Given the description of an element on the screen output the (x, y) to click on. 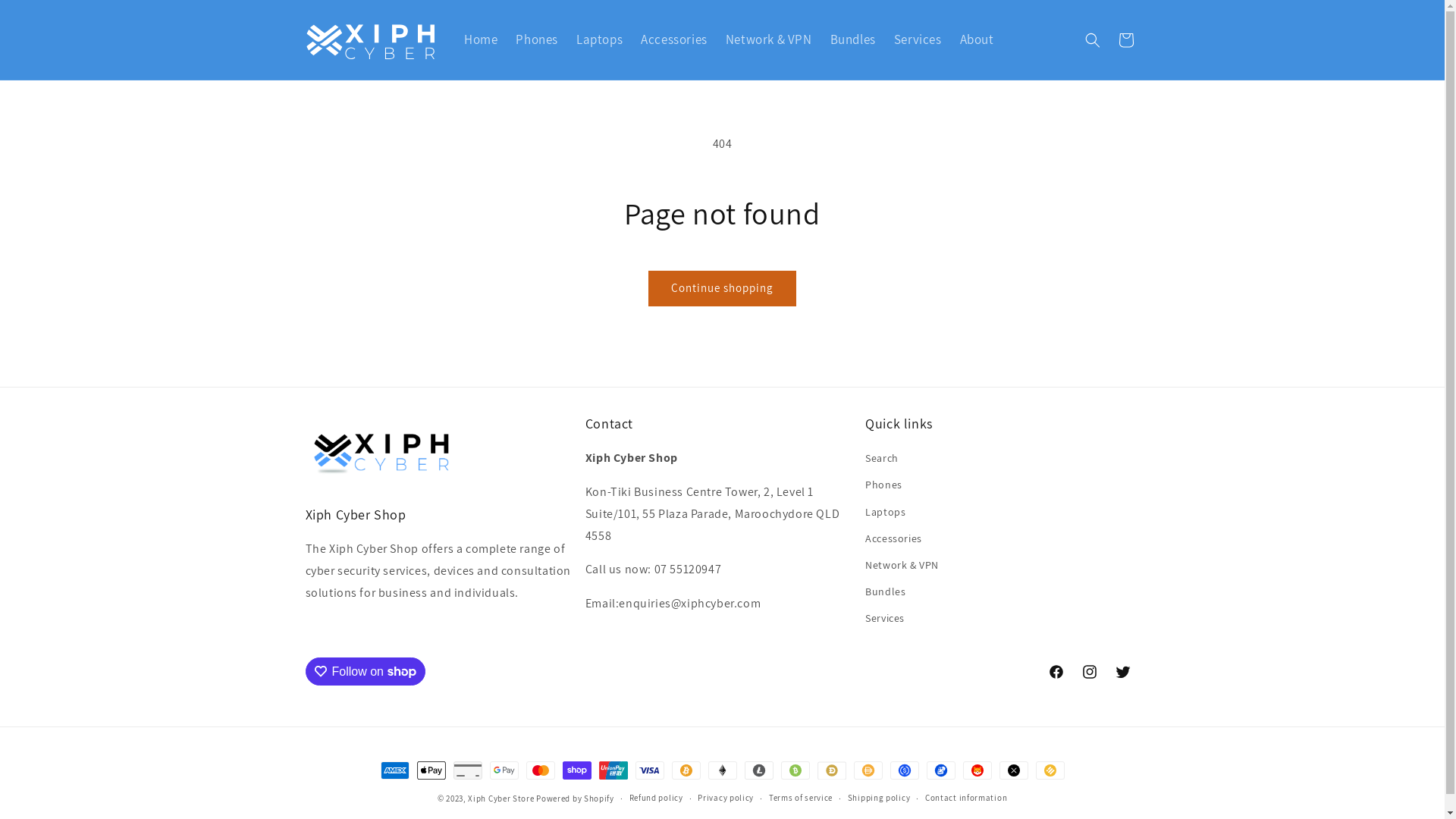
Contact information Element type: text (966, 797)
Laptops Element type: text (599, 38)
Shipping policy Element type: text (878, 797)
Services Element type: text (884, 618)
Bundles Element type: text (885, 591)
About Element type: text (976, 38)
Continue shopping Element type: text (722, 288)
Refund policy Element type: text (656, 797)
Search Element type: text (881, 459)
Laptops Element type: text (885, 511)
Accessories Element type: text (893, 538)
Accessories Element type: text (673, 38)
Twitter Element type: text (1122, 671)
Privacy policy Element type: text (725, 797)
Phones Element type: text (883, 484)
Facebook Element type: text (1055, 671)
Instagram Element type: text (1088, 671)
Home Element type: text (480, 38)
Services Element type: text (917, 38)
Powered by Shopify Element type: text (575, 798)
Network & VPN Element type: text (768, 38)
Terms of service Element type: text (800, 797)
Cart Element type: text (1125, 39)
Phones Element type: text (536, 38)
Bundles Element type: text (852, 38)
Network & VPN Element type: text (901, 565)
Xiph Cyber Store Element type: text (500, 798)
